Given the description of an element on the screen output the (x, y) to click on. 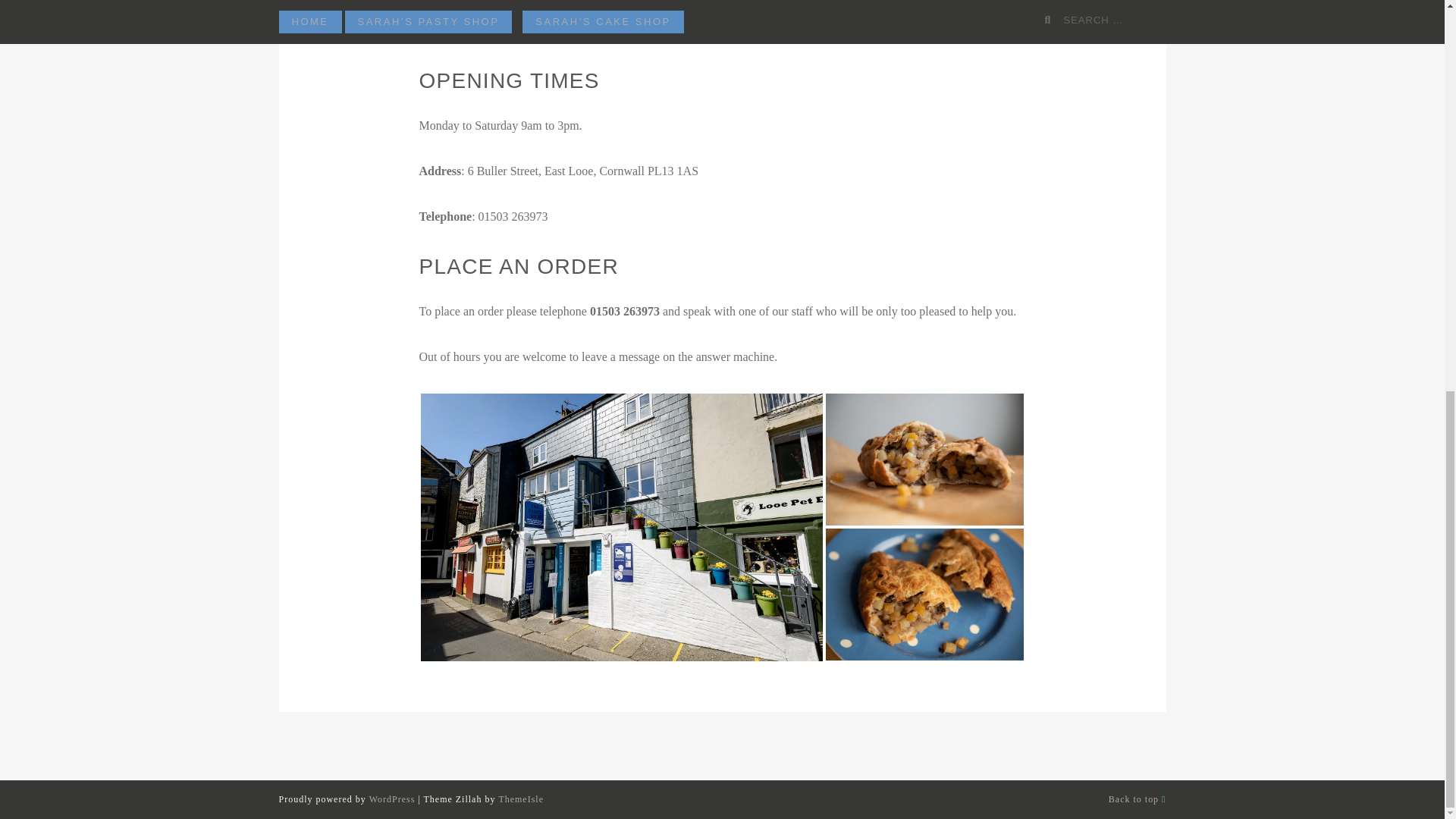
WordPress (391, 798)
Back to top (1137, 798)
Sarah's Pasty Shop (924, 594)
Sarah's Pasty Shop (621, 526)
ThemeIsle (520, 798)
Sarah's Pasty Shop (924, 459)
